Given the description of an element on the screen output the (x, y) to click on. 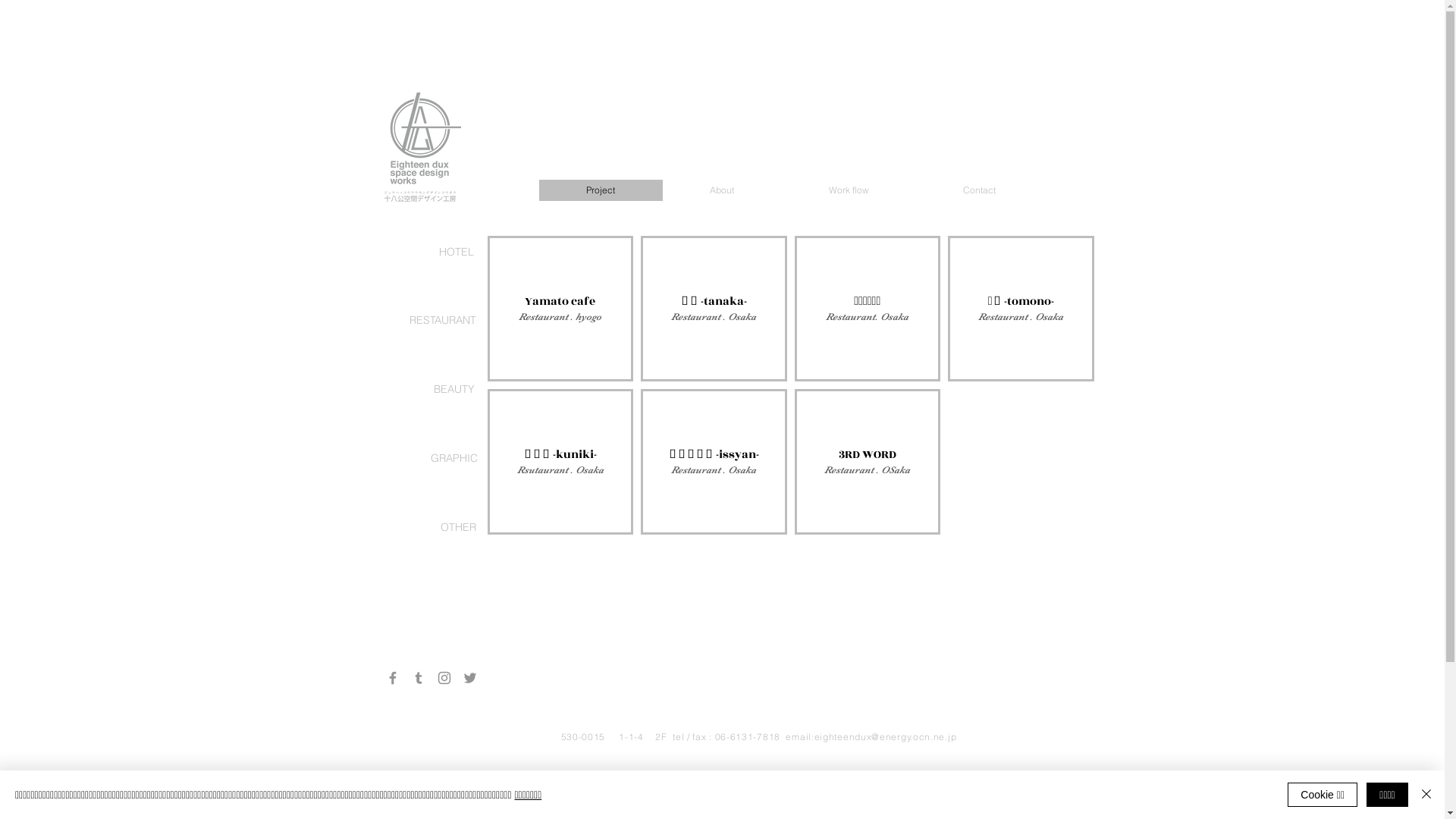
eighteendux@energy.ocn.ne.jp Element type: text (885, 736)
About Element type: text (721, 189)
GRAPHIC Element type: text (453, 458)
HOTEL Element type: text (455, 252)
RESTAURANT Element type: text (441, 320)
OTHER Element type: text (457, 527)
Yamato cafe
Restaurant . hyogo Element type: text (559, 308)
BEAUTY Element type: text (453, 389)
Project Element type: text (600, 189)
3RD WORD
Restaurant . OSaka Element type: text (867, 461)
Contact Element type: text (979, 189)
Work flow Element type: text (848, 189)
